Given the description of an element on the screen output the (x, y) to click on. 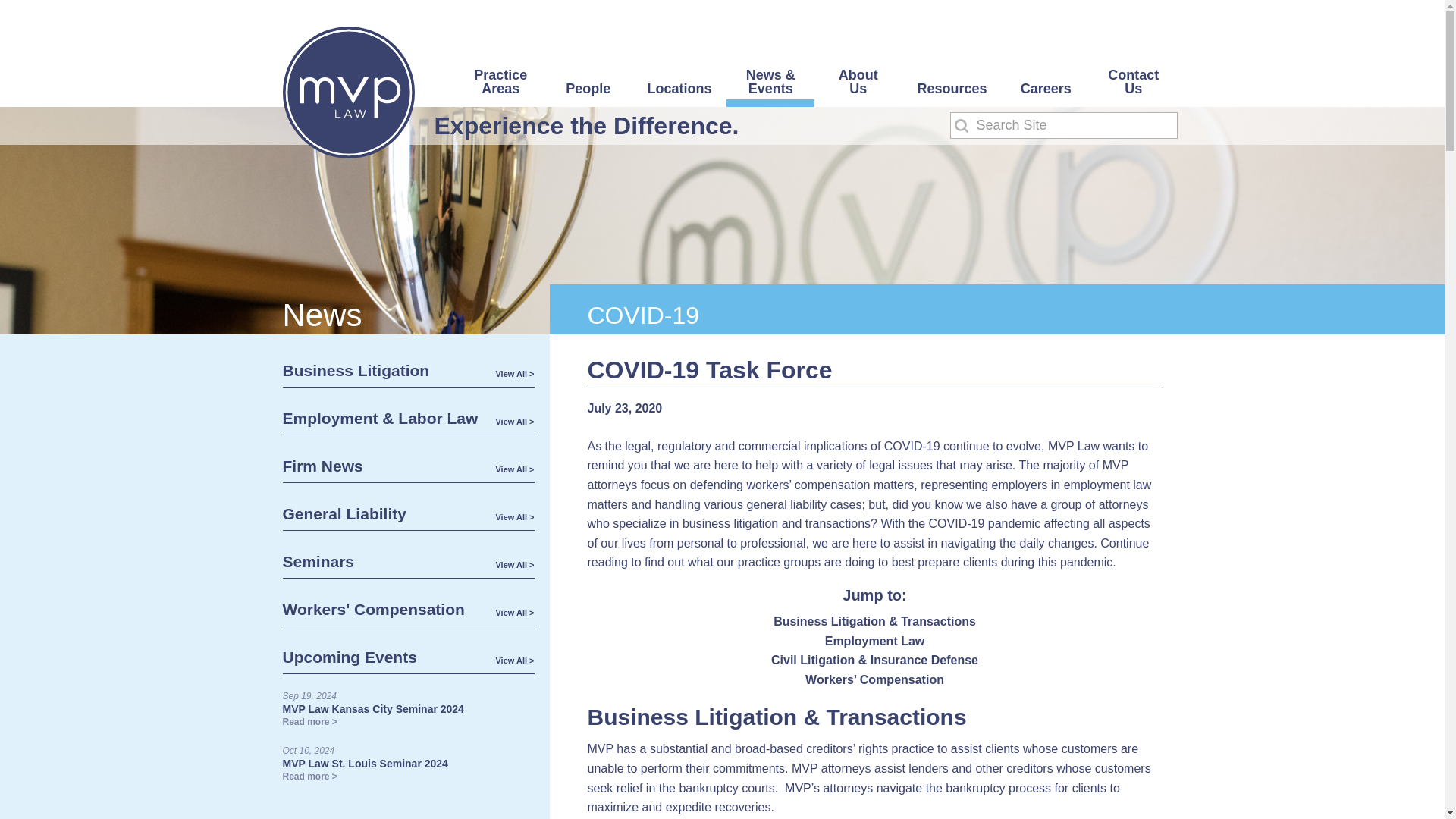
Contact Us (1132, 87)
Careers (1046, 94)
Practice Areas (500, 87)
Locations (678, 94)
Resources (951, 94)
About Us (857, 87)
MVP Law (347, 92)
People (587, 94)
